Given the description of an element on the screen output the (x, y) to click on. 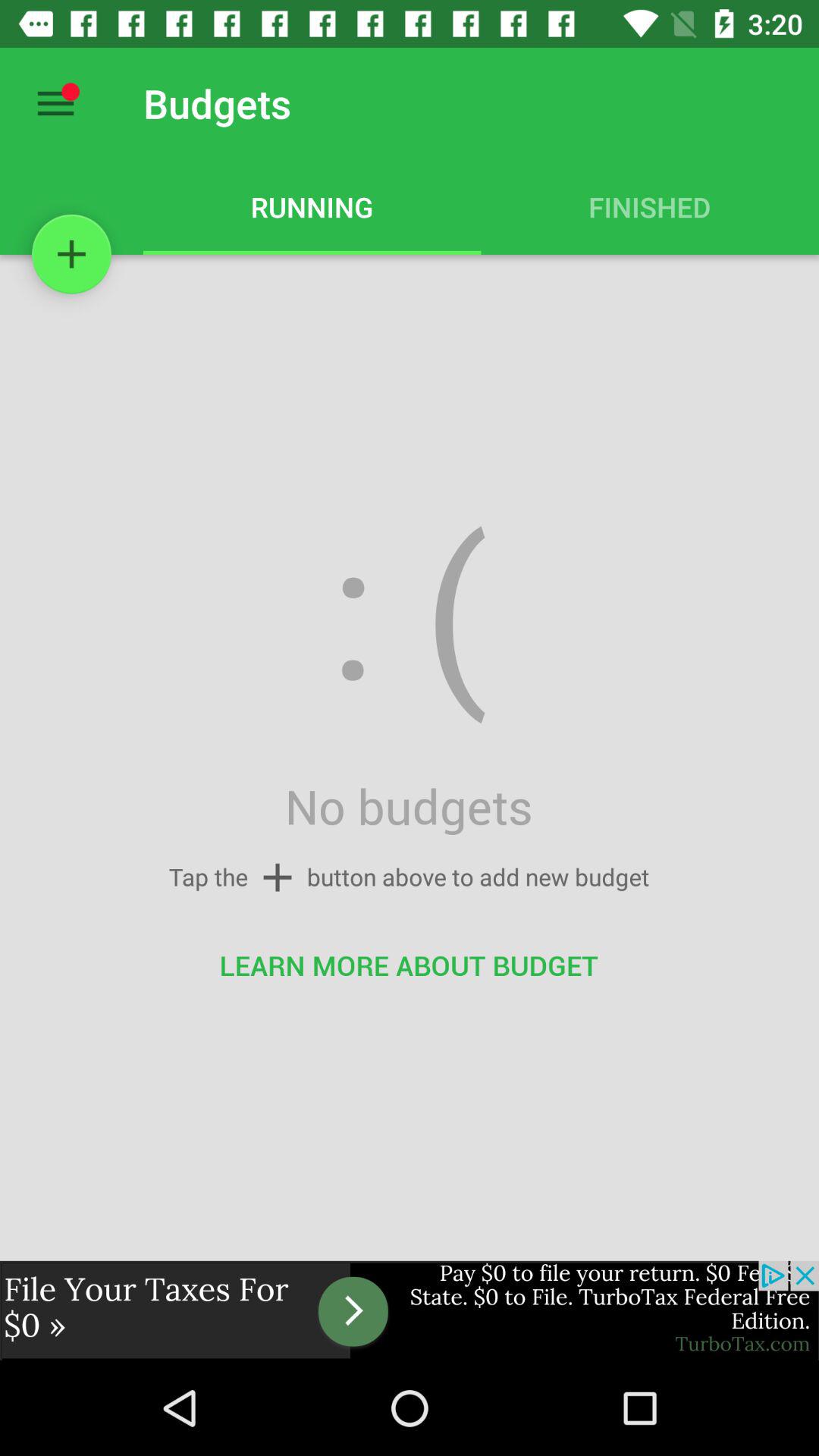
menu (55, 103)
